Given the description of an element on the screen output the (x, y) to click on. 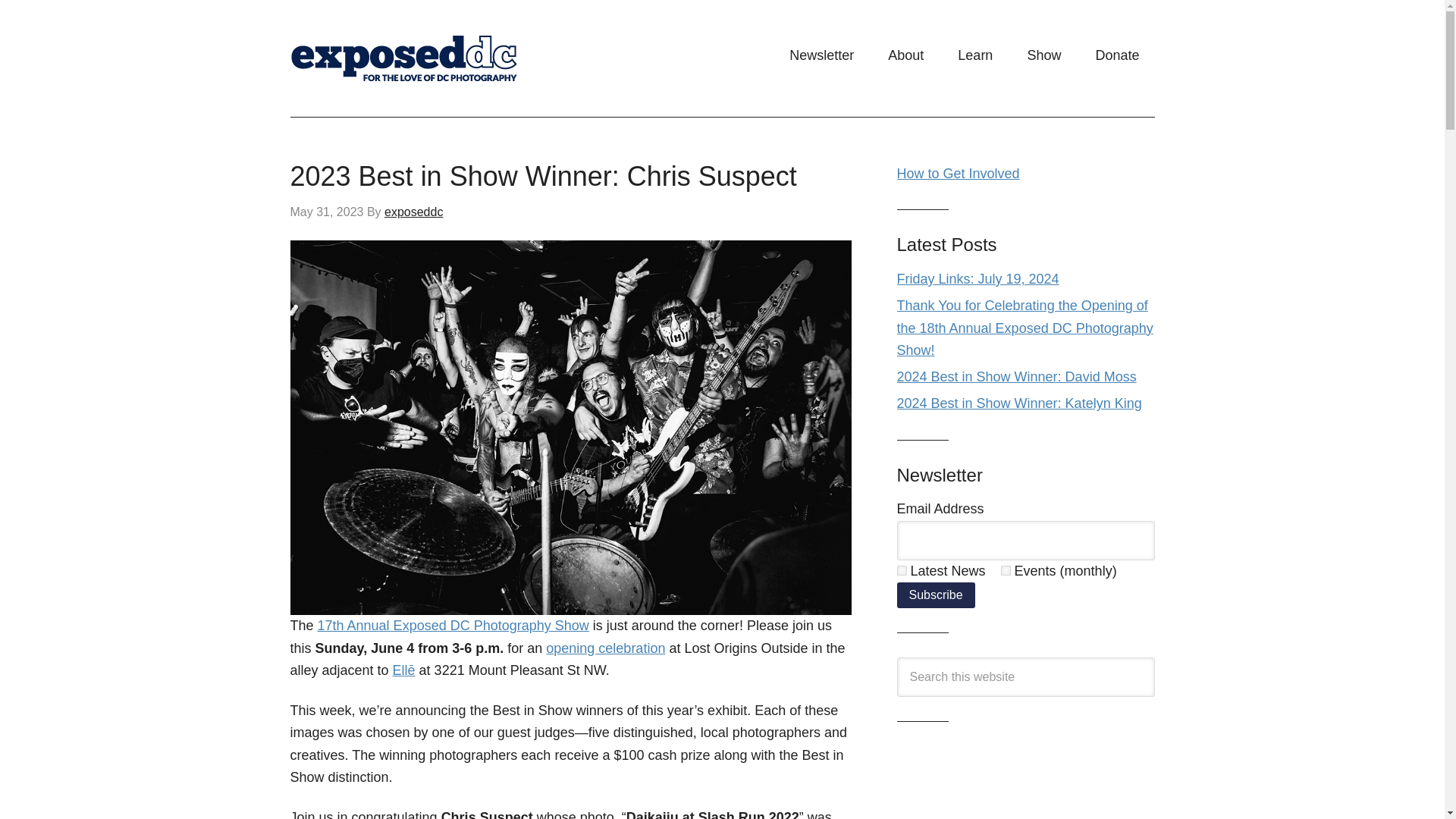
17th Annual Exposed DC Photography Show (453, 625)
Donate (1117, 55)
Newsletter (821, 55)
1 (900, 570)
2 (1005, 570)
Subscribe (935, 595)
opening celebration (605, 648)
Learn (974, 55)
Show (1043, 55)
2023 Best in Show Winner: Chris Suspect (542, 175)
About (905, 55)
exposeddc (413, 211)
exposed dc (440, 58)
